Given the description of an element on the screen output the (x, y) to click on. 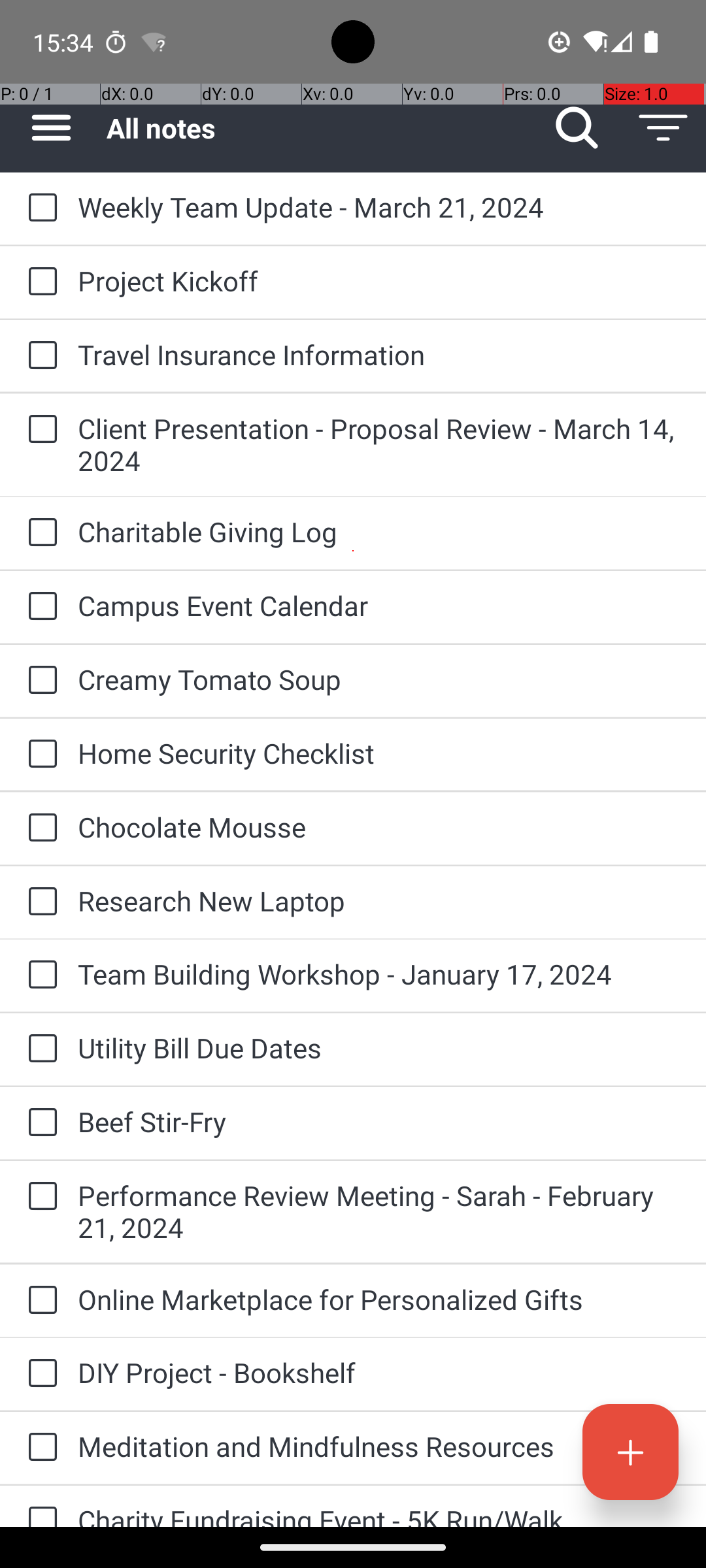
to-do: Weekly Team Update - March 21, 2024 Element type: android.widget.CheckBox (38, 208)
Weekly Team Update - March 21, 2024 Element type: android.widget.TextView (378, 206)
to-do: Travel Insurance Information Element type: android.widget.CheckBox (38, 356)
Travel Insurance Information Element type: android.widget.TextView (378, 354)
to-do: Client Presentation - Proposal Review - March 14, 2024 Element type: android.widget.CheckBox (38, 429)
Client Presentation - Proposal Review - March 14, 2024 Element type: android.widget.TextView (378, 443)
to-do: Charitable Giving Log Element type: android.widget.CheckBox (38, 533)
Charitable Giving Log Element type: android.widget.TextView (378, 531)
to-do: Campus Event Calendar Element type: android.widget.CheckBox (38, 606)
Campus Event Calendar Element type: android.widget.TextView (378, 604)
to-do: Creamy Tomato Soup Element type: android.widget.CheckBox (38, 680)
to-do: Home Security Checklist Element type: android.widget.CheckBox (38, 754)
Home Security Checklist Element type: android.widget.TextView (378, 752)
to-do: Chocolate Mousse Element type: android.widget.CheckBox (38, 828)
Chocolate Mousse Element type: android.widget.TextView (378, 826)
to-do: Research New Laptop Element type: android.widget.CheckBox (38, 902)
Research New Laptop Element type: android.widget.TextView (378, 900)
to-do: Team Building Workshop - January 17, 2024 Element type: android.widget.CheckBox (38, 975)
Team Building Workshop - January 17, 2024 Element type: android.widget.TextView (378, 973)
to-do: Utility Bill Due Dates Element type: android.widget.CheckBox (38, 1049)
Utility Bill Due Dates Element type: android.widget.TextView (378, 1047)
to-do: Beef Stir-Fry Element type: android.widget.CheckBox (38, 1123)
to-do: Performance Review Meeting - Sarah - February 21, 2024 Element type: android.widget.CheckBox (38, 1196)
Performance Review Meeting - Sarah - February 21, 2024 Element type: android.widget.TextView (378, 1210)
to-do: Online Marketplace for Personalized Gifts Element type: android.widget.CheckBox (38, 1300)
Online Marketplace for Personalized Gifts Element type: android.widget.TextView (378, 1298)
to-do: DIY Project - Bookshelf Element type: android.widget.CheckBox (38, 1373)
DIY Project - Bookshelf Element type: android.widget.TextView (378, 1371)
to-do: Meditation and Mindfulness Resources Element type: android.widget.CheckBox (38, 1447)
Meditation and Mindfulness Resources Element type: android.widget.TextView (378, 1445)
to-do: Charity Fundraising Event - 5K Run/Walk Element type: android.widget.CheckBox (38, 1505)
Charity Fundraising Event - 5K Run/Walk Element type: android.widget.TextView (378, 1513)
